Given the description of an element on the screen output the (x, y) to click on. 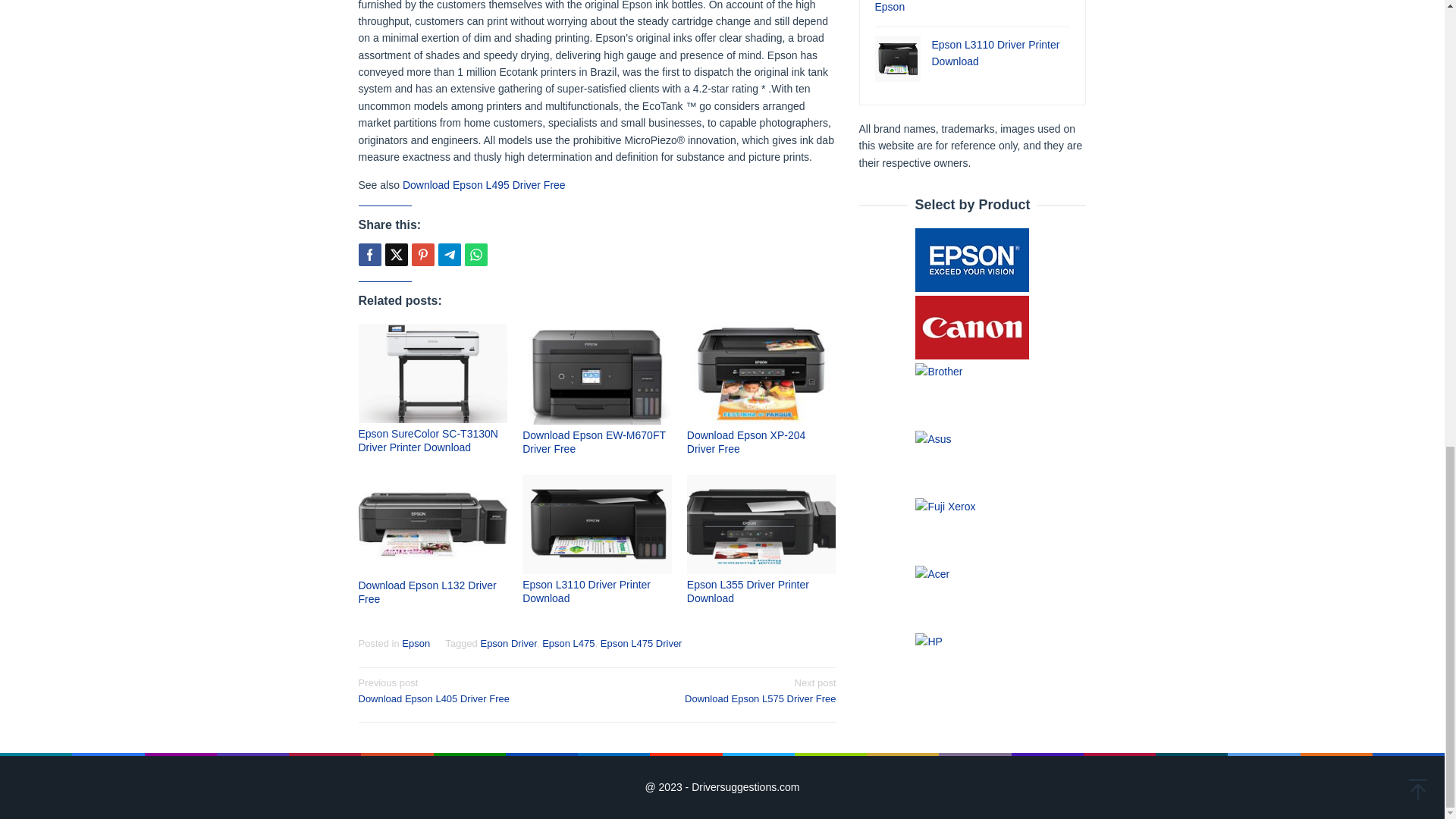
Download Epson XP-204 Driver Free (746, 442)
Permalink to: Download Epson EW-M670FT Driver Free (596, 374)
Epson L3110 Driver Printer Download (586, 591)
Telegram Share (449, 254)
Download Epson EW-M670FT Driver Free (593, 442)
Tweet this (396, 254)
Whatsapp (475, 254)
Download Epson L132 Driver Free (427, 592)
